Given the description of an element on the screen output the (x, y) to click on. 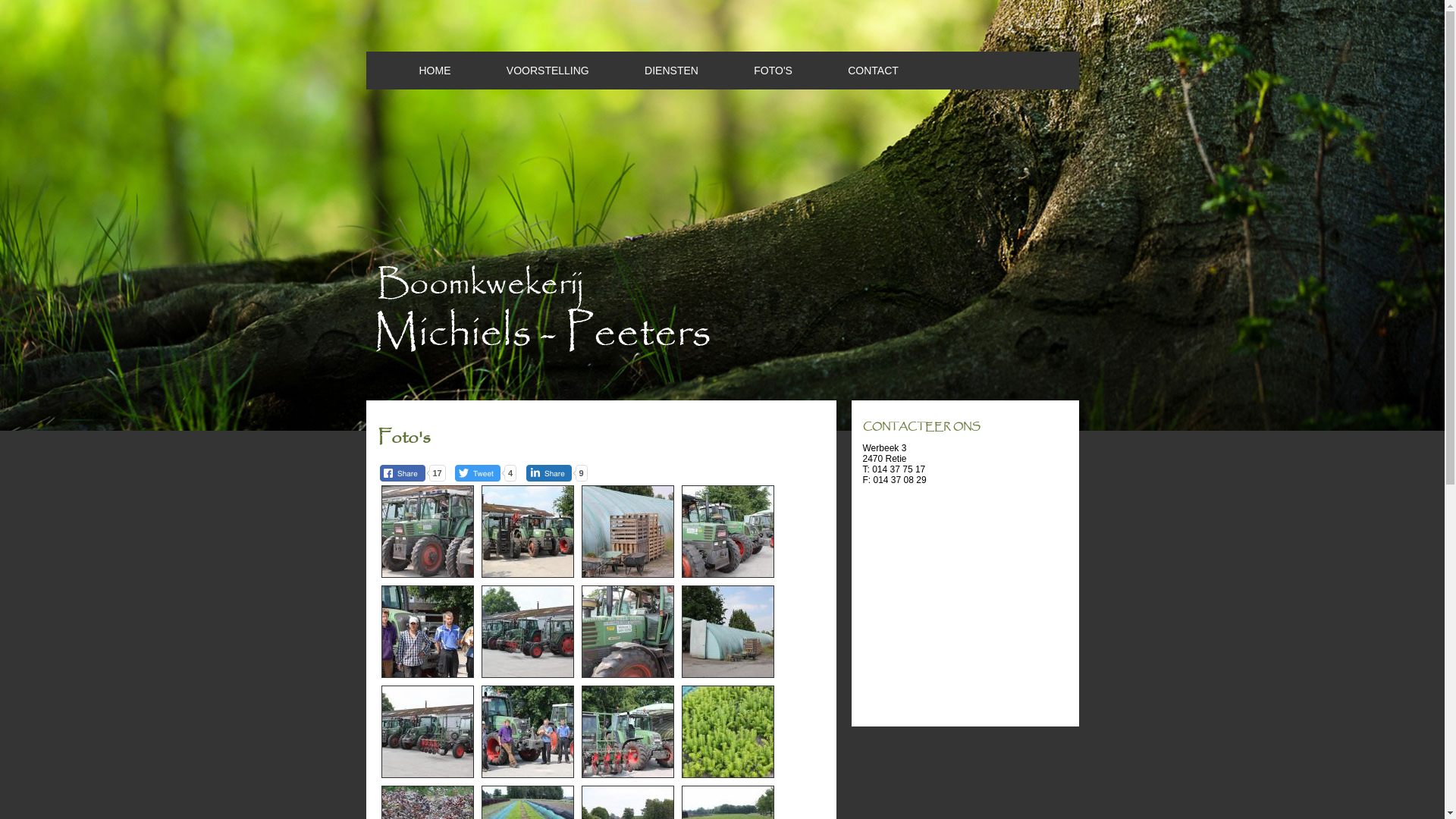
DIENSTEN Element type: text (644, 70)
Overslaan en naar de algemene inhoud gaan Element type: text (91, 0)
CONTACT Element type: text (846, 70)
FOTO'S Element type: text (746, 70)
VOORSTELLING Element type: text (521, 70)
HOME Element type: text (407, 70)
